Given the description of an element on the screen output the (x, y) to click on. 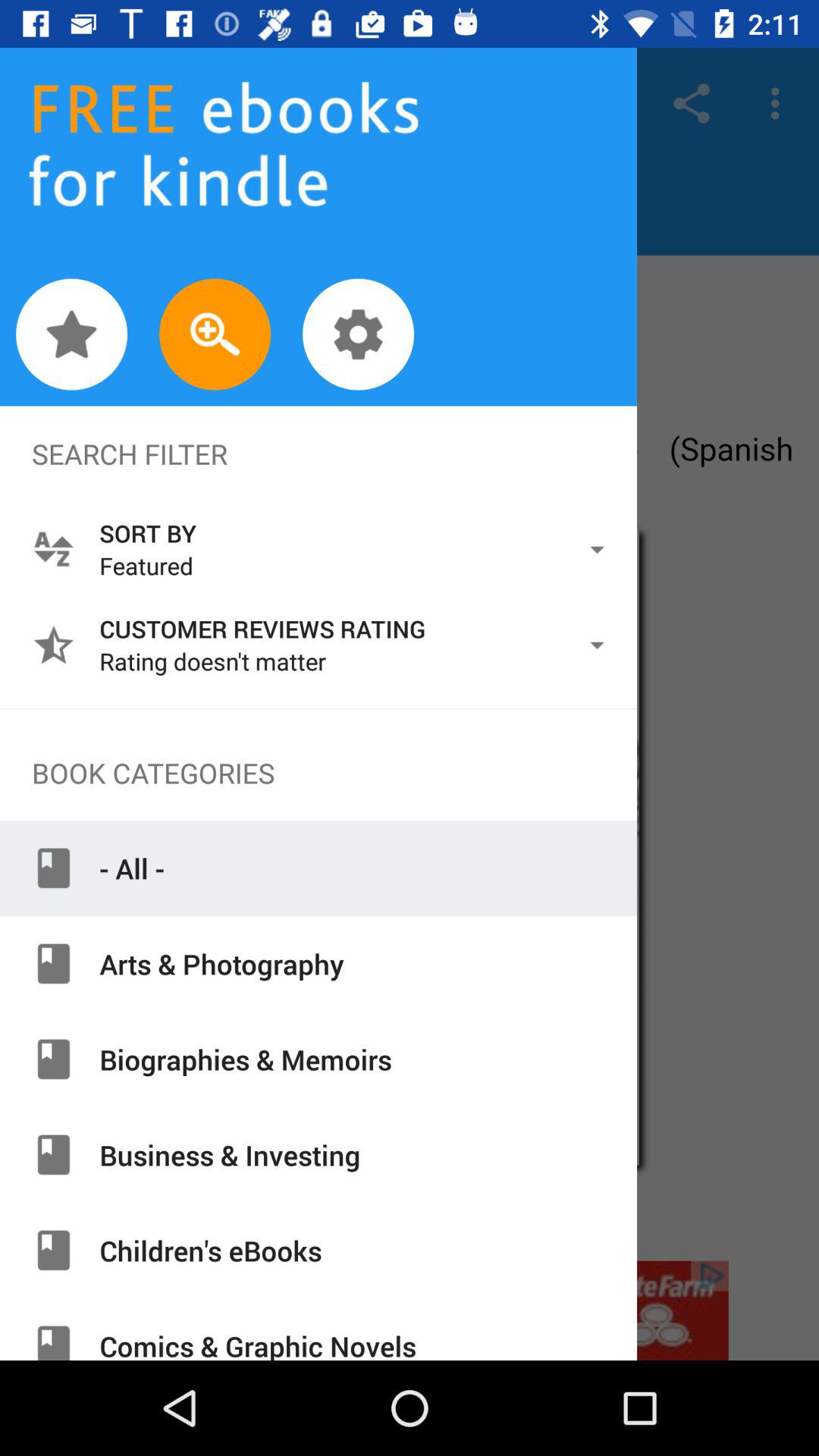
settings (358, 334)
